Given the description of an element on the screen output the (x, y) to click on. 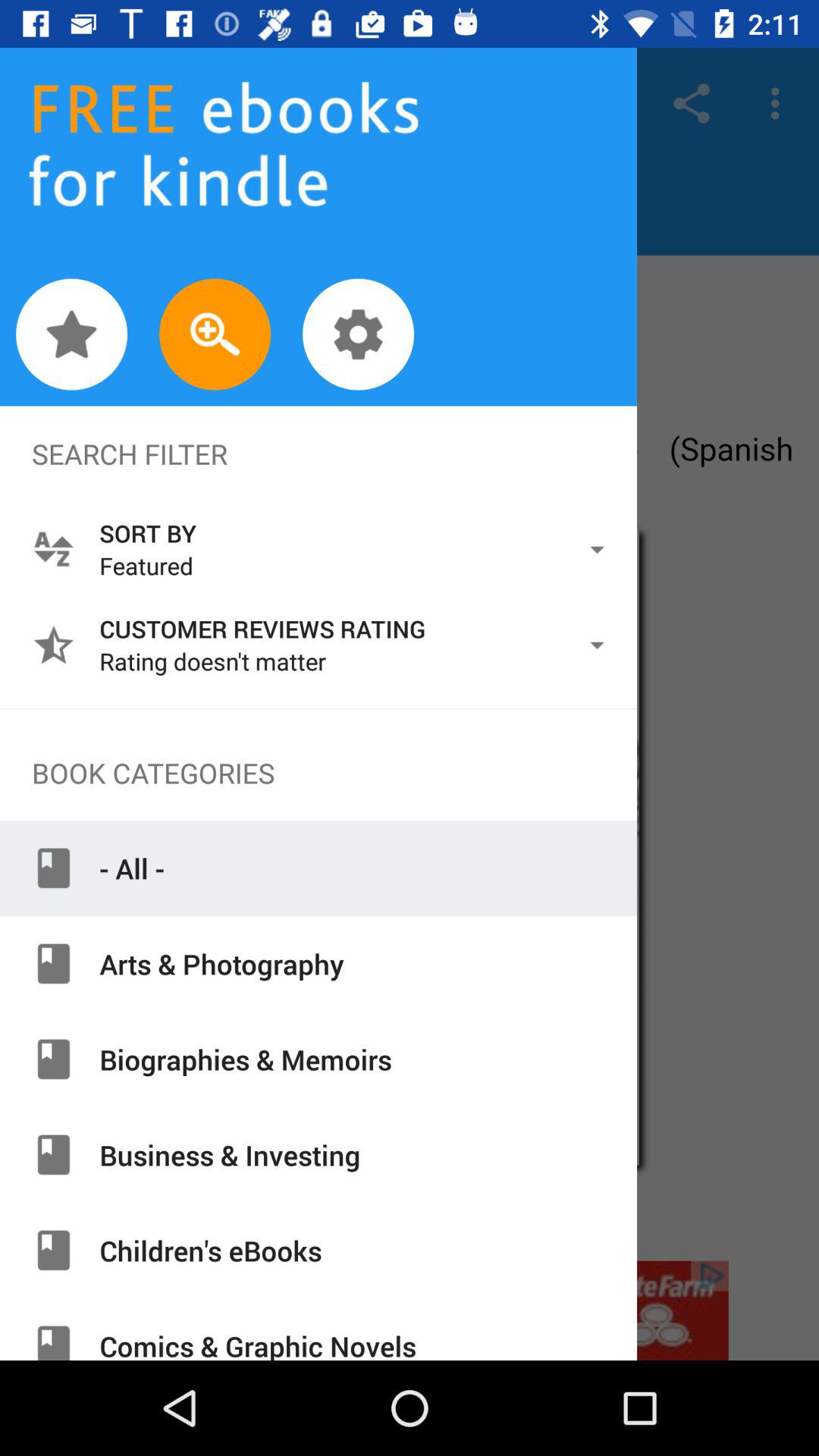
settings (358, 334)
